Given the description of an element on the screen output the (x, y) to click on. 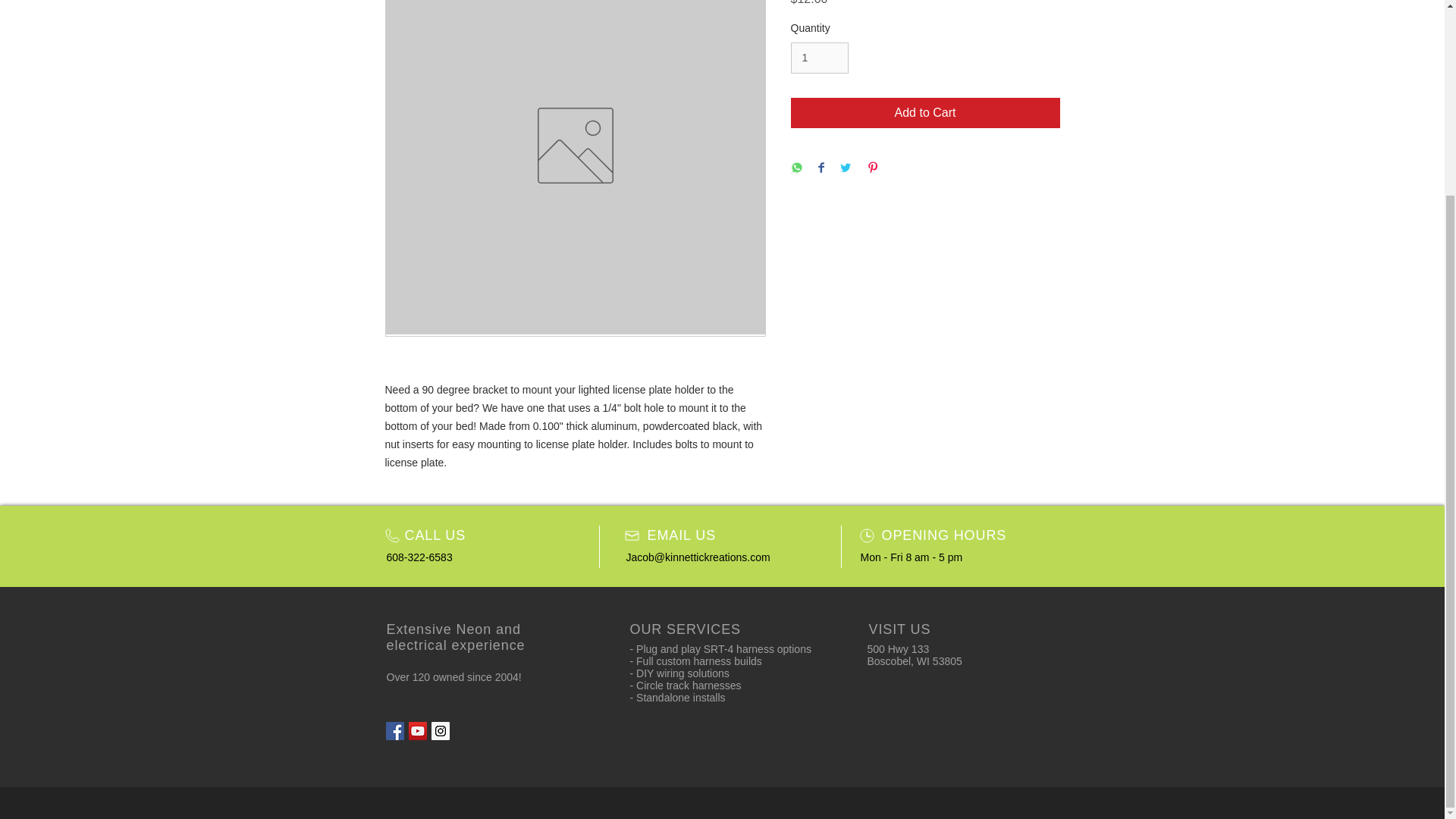
1 (818, 57)
Add to Cart (924, 112)
